Given the description of an element on the screen output the (x, y) to click on. 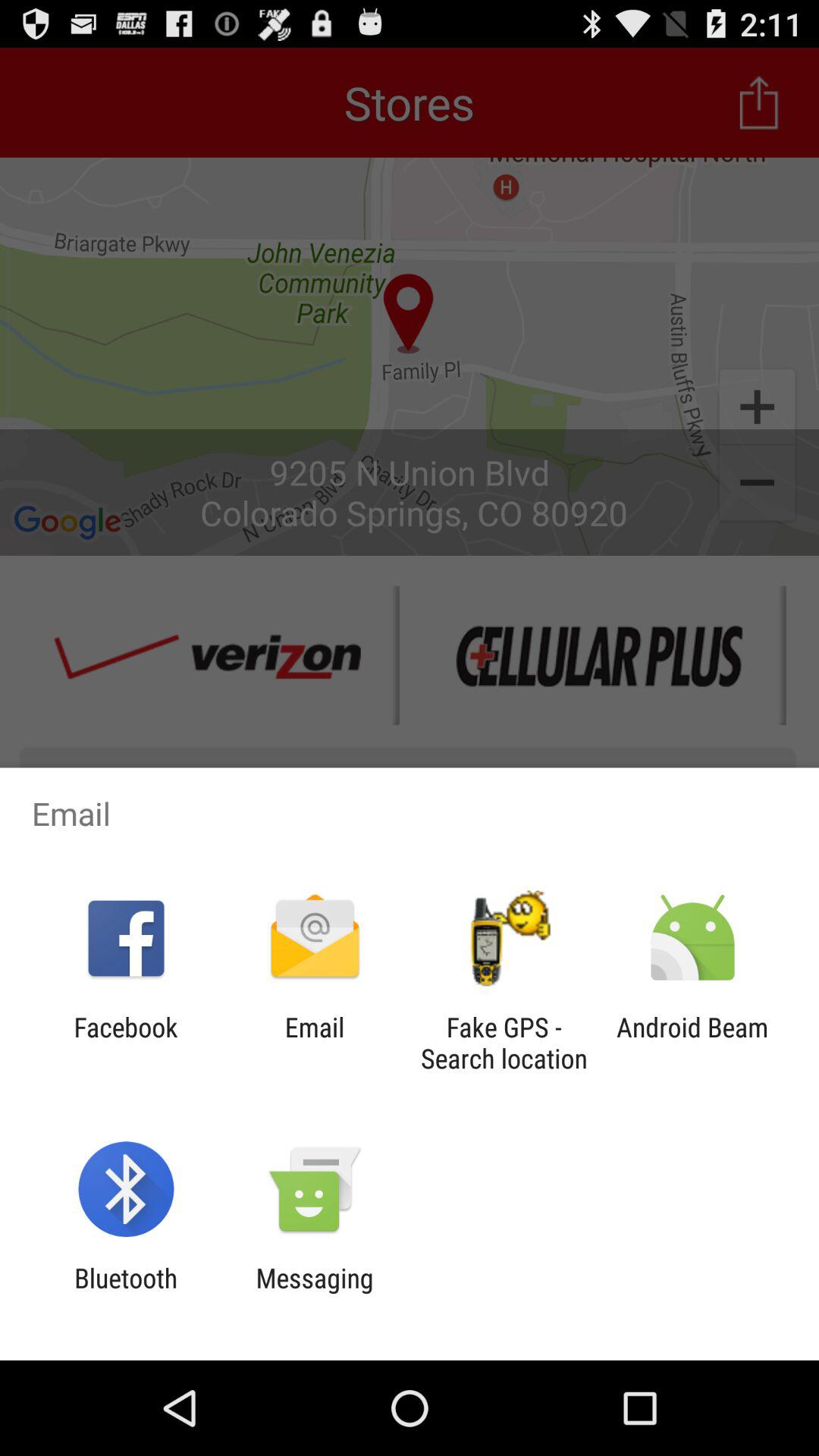
swipe to the fake gps search icon (503, 1042)
